Given the description of an element on the screen output the (x, y) to click on. 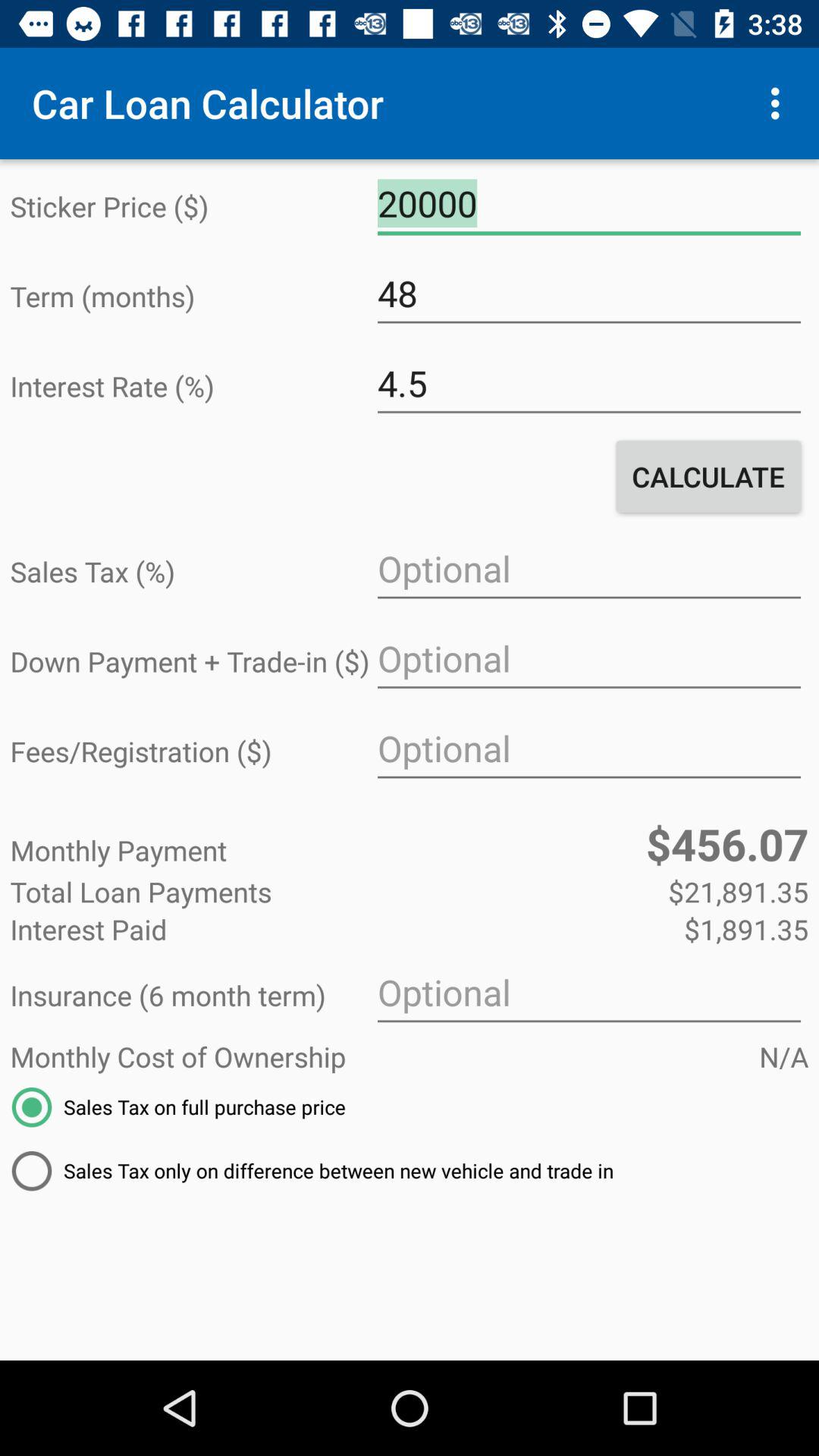
turn on item above the $456.07 (588, 748)
